Given the description of an element on the screen output the (x, y) to click on. 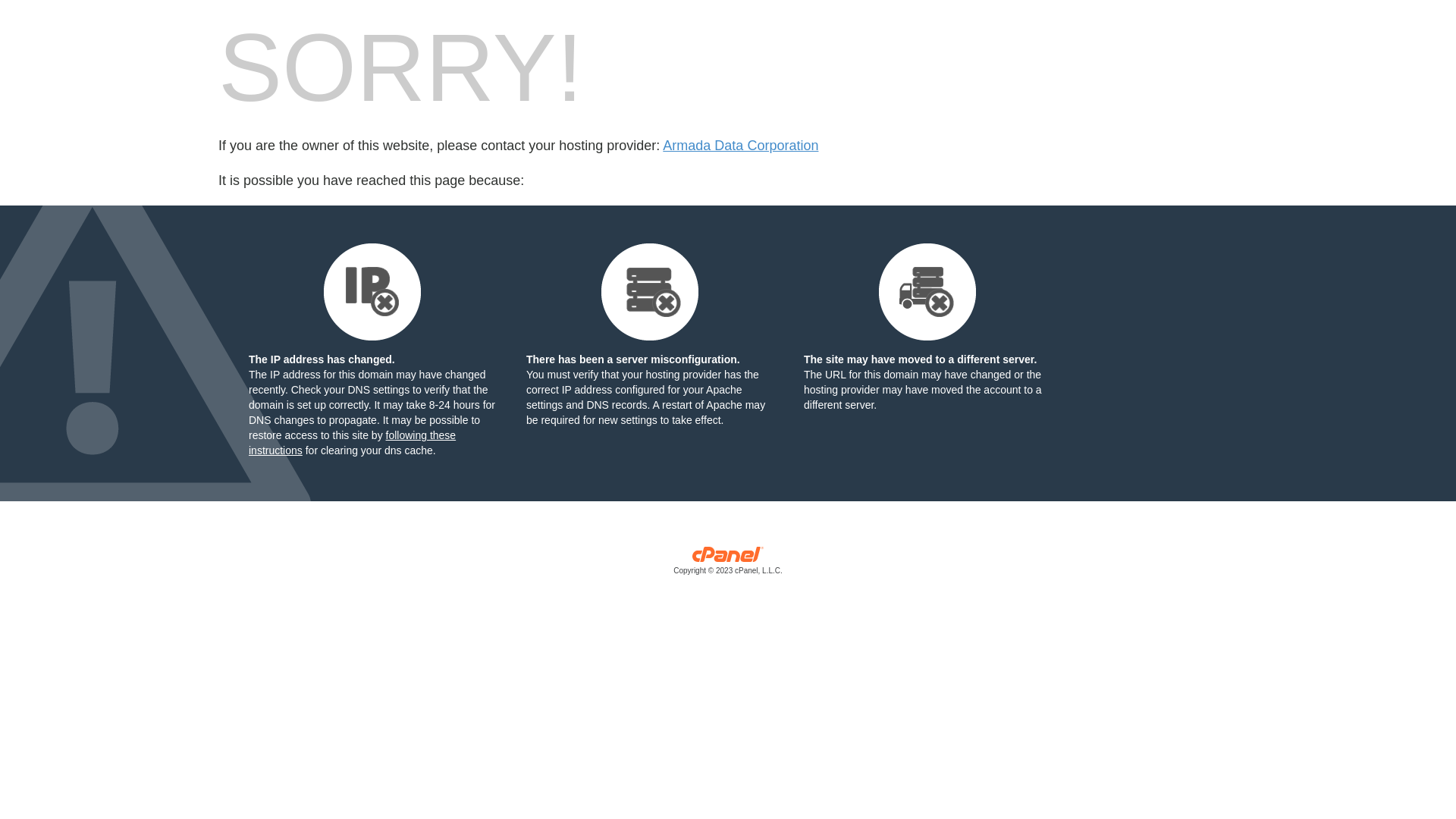
Armada Data Corporation Element type: text (740, 145)
following these instructions Element type: text (351, 442)
